Given the description of an element on the screen output the (x, y) to click on. 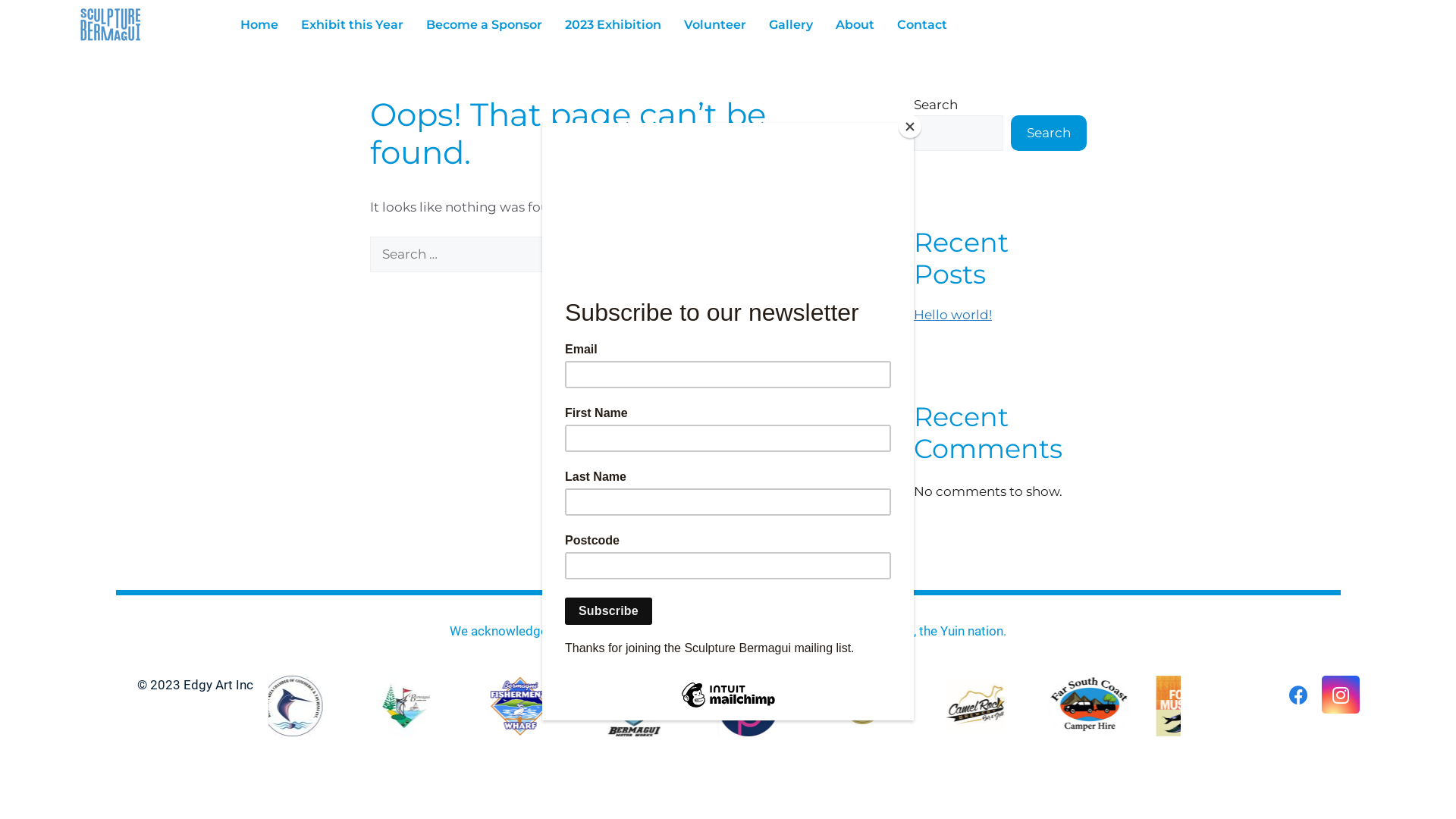
Become a Sponsor Element type: text (483, 24)
Home Element type: text (259, 24)
Search for: Element type: hover (472, 254)
Gallery Element type: text (790, 24)
Volunteer Element type: text (714, 24)
Hello world! Element type: text (952, 314)
Exhibit this Year Element type: text (351, 24)
SB Logo Small Element type: hover (110, 24)
About Element type: text (854, 24)
2023 Exhibition Element type: text (612, 24)
Search Element type: text (1047, 133)
Contact Element type: text (921, 24)
